Given the description of an element on the screen output the (x, y) to click on. 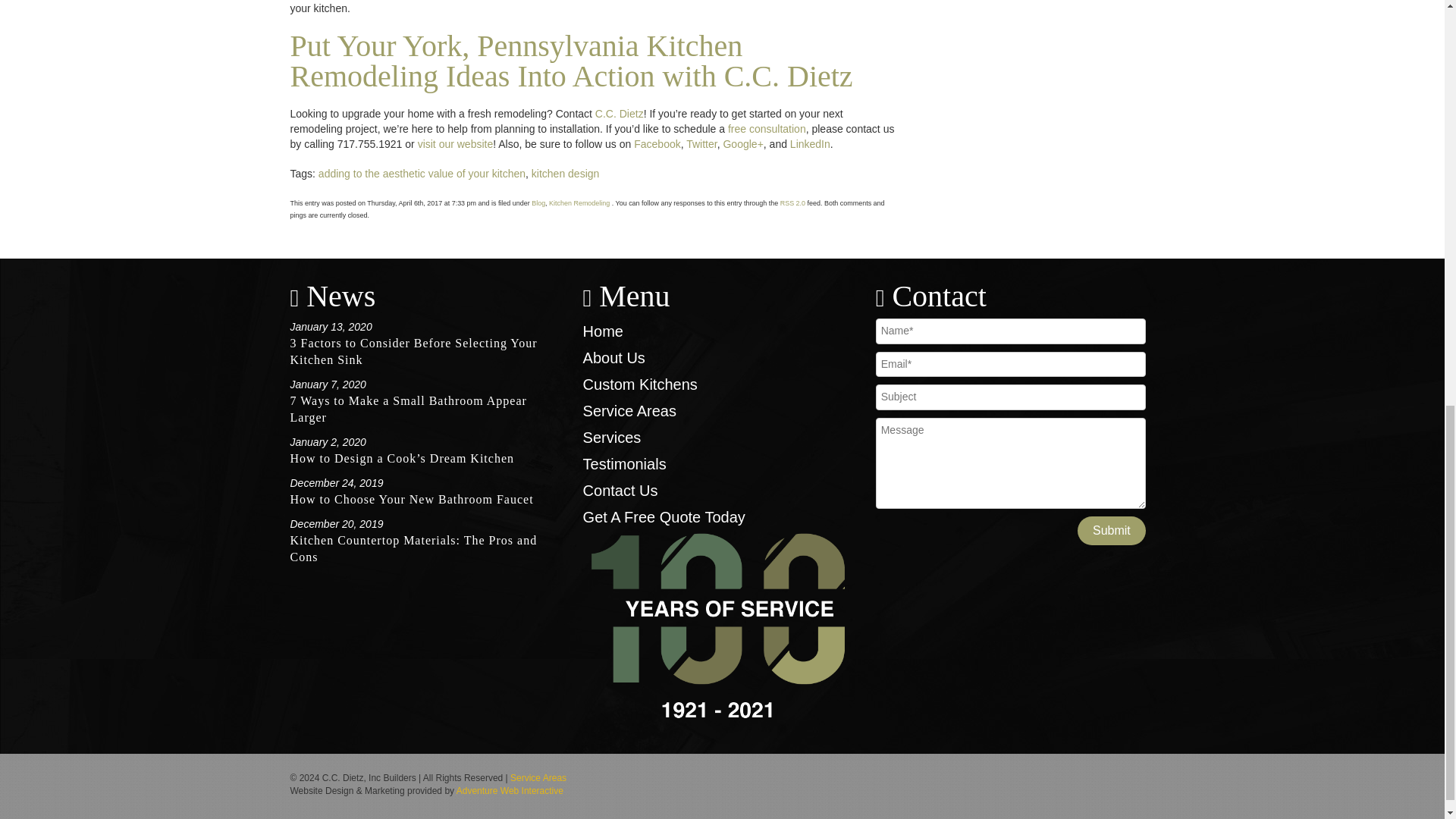
visit our website (455, 143)
Kitchen Remodeling (579, 203)
C.C. Dietz (619, 113)
Facebook (656, 143)
Submit (1111, 530)
free consultation (767, 128)
kitchen design (565, 173)
LinkedIn (809, 143)
Twitter (700, 143)
RSS 2.0 (792, 203)
Blog (537, 203)
adding to the aesthetic value of your kitchen (421, 173)
